Given the description of an element on the screen output the (x, y) to click on. 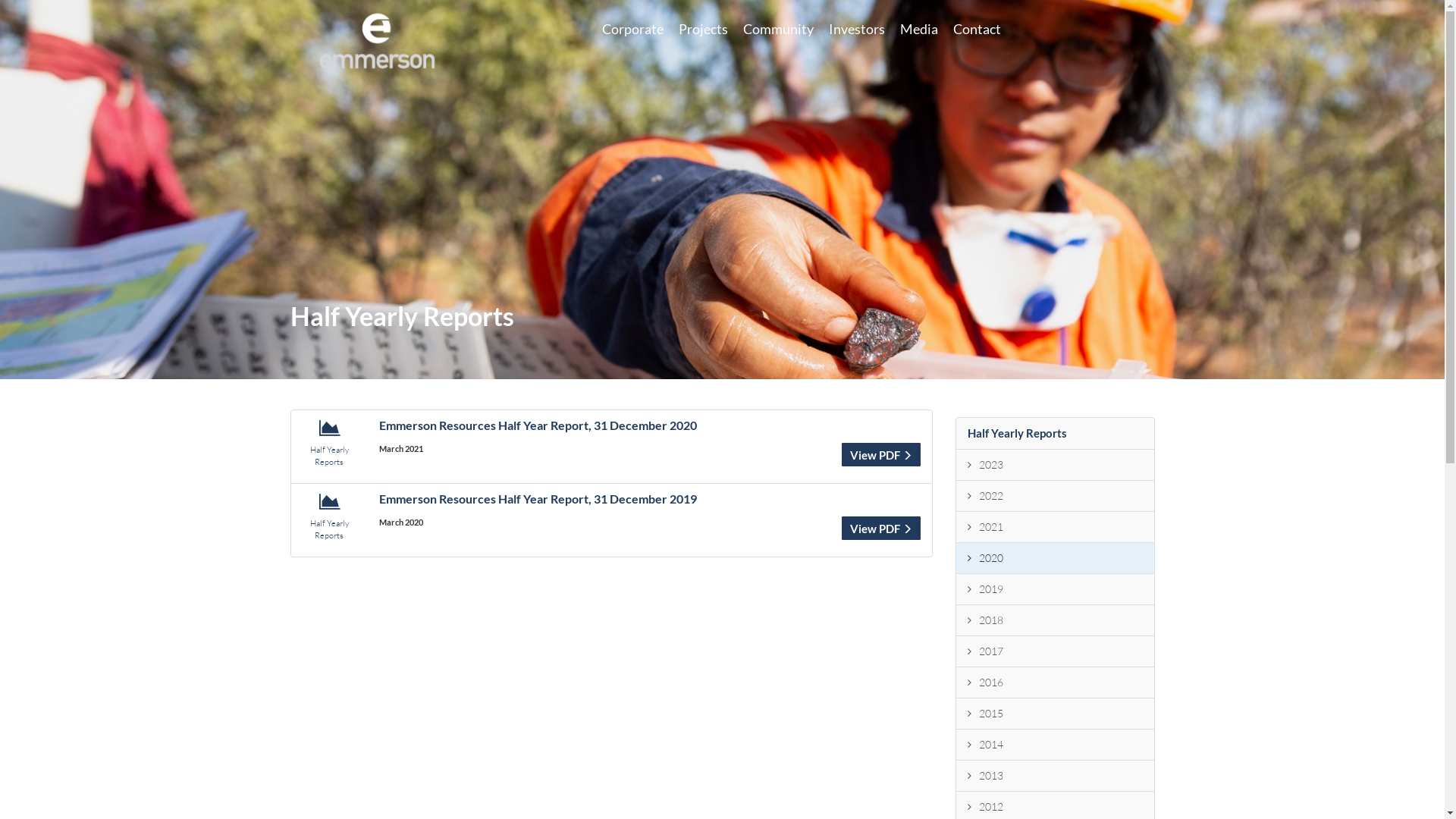
Media Element type: text (919, 28)
2017 Element type: text (1054, 651)
2021 Element type: text (1054, 526)
2022 Element type: text (1054, 495)
Contact Element type: text (977, 28)
Community Element type: text (778, 28)
2018 Element type: text (1054, 620)
2015 Element type: text (1054, 713)
Projects Element type: text (703, 28)
View PDF Element type: text (880, 527)
2014 Element type: text (1054, 744)
View PDF Element type: text (880, 454)
Half Yearly Reports Element type: text (1054, 433)
2023 Element type: text (1054, 464)
2016 Element type: text (1054, 682)
2020 Element type: text (1054, 558)
Investors Element type: text (856, 28)
2019 Element type: text (1054, 589)
Corporate Element type: text (632, 28)
2013 Element type: text (1054, 775)
